Given the description of an element on the screen output the (x, y) to click on. 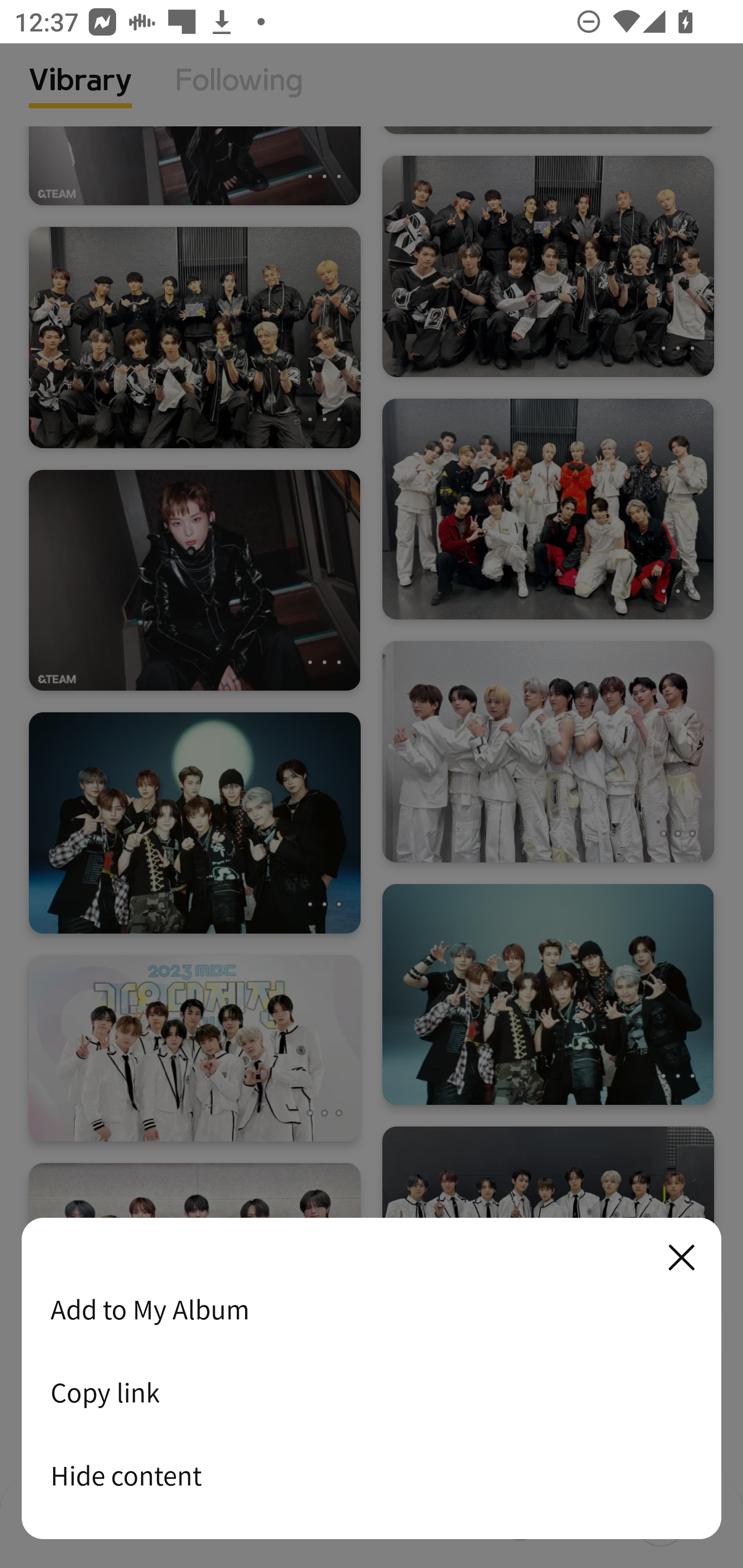
Add to My Album Copy link Hide content (371, 1378)
Add to My Album (371, 1308)
Copy link (371, 1391)
Hide content (371, 1474)
